Given the description of an element on the screen output the (x, y) to click on. 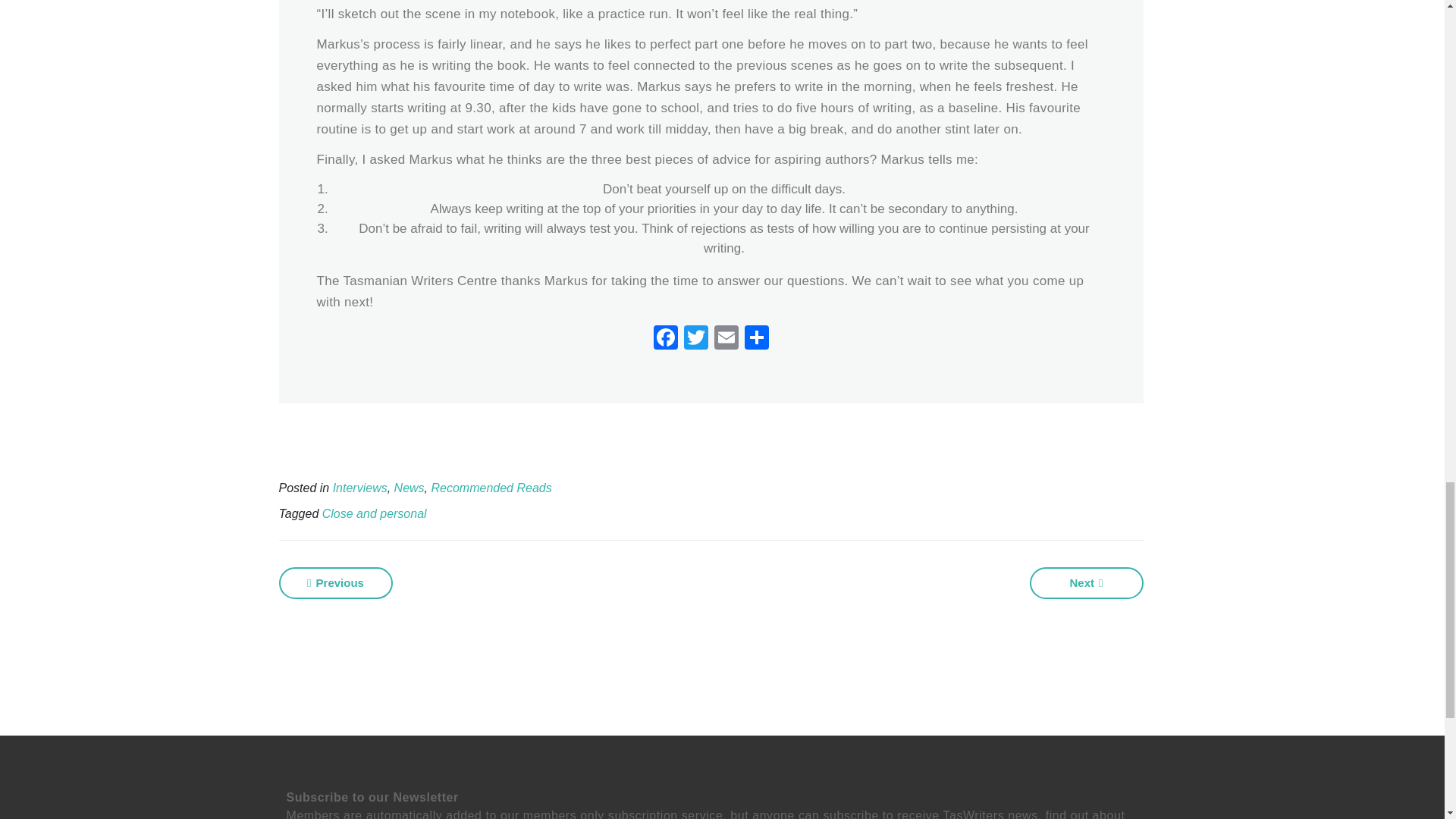
Close and personal (373, 513)
Next (1085, 582)
Recommended Reads (490, 487)
Interviews (360, 487)
Email (726, 338)
News (409, 487)
Previous (336, 582)
Facebook (665, 338)
Twitter (696, 338)
